Given the description of an element on the screen output the (x, y) to click on. 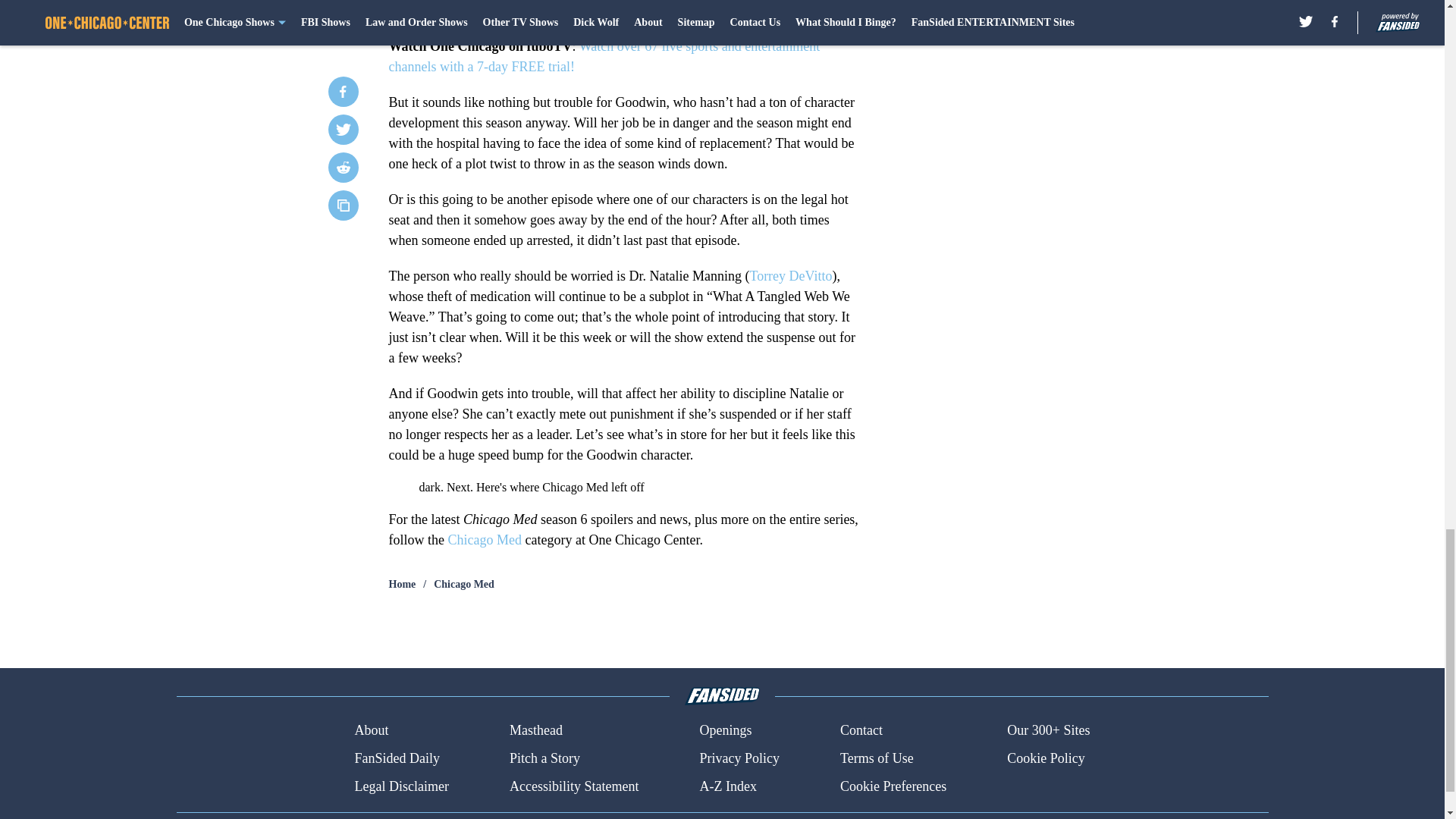
Torrey DeVitto (790, 275)
About (370, 730)
Masthead (535, 730)
Chicago Med (483, 539)
Openings (724, 730)
Chicago Med (464, 584)
Home (401, 584)
